Given the description of an element on the screen output the (x, y) to click on. 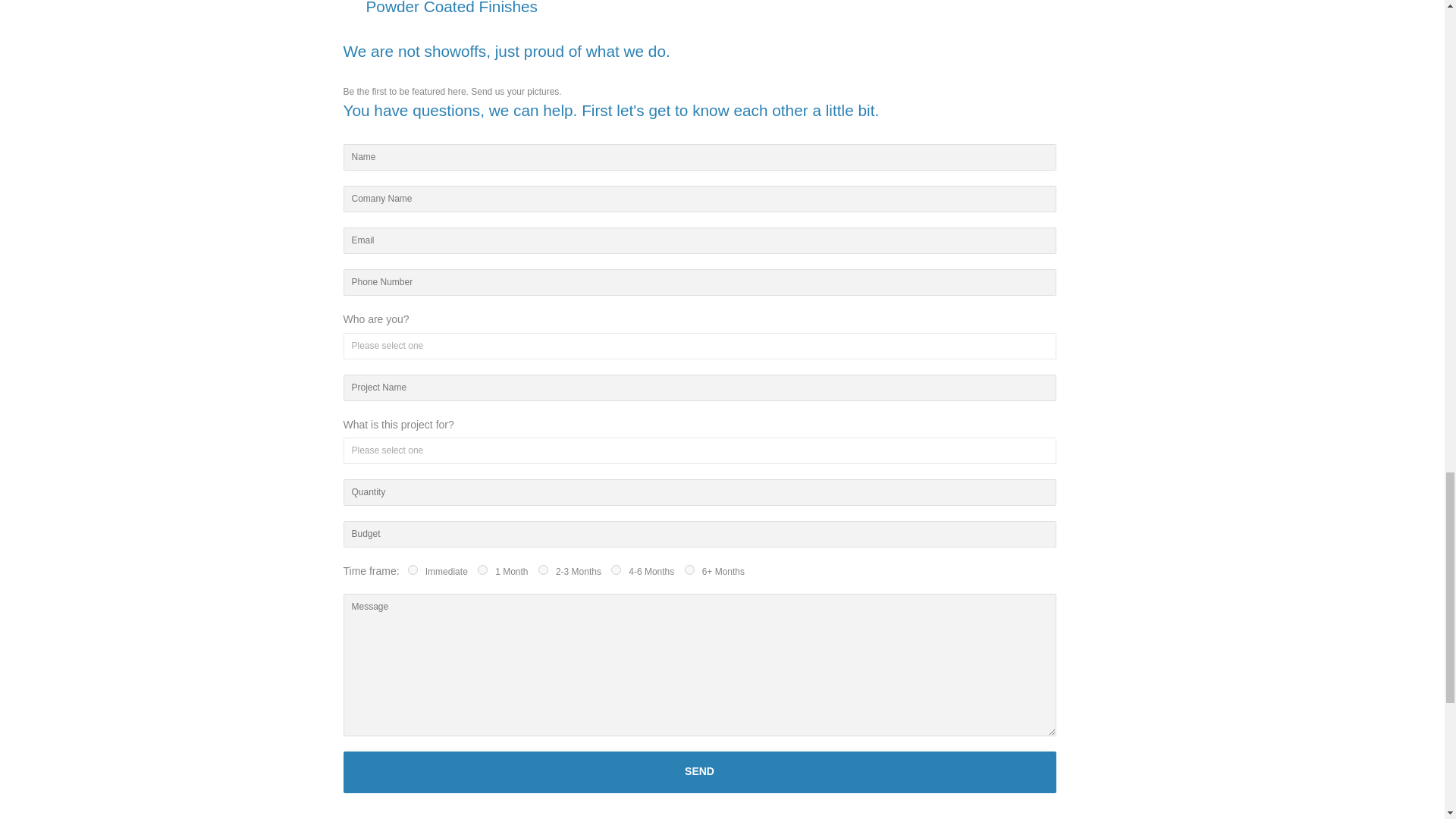
4-6 Months (616, 569)
1 Month (482, 569)
Immediate (412, 569)
Send (698, 772)
2-3 Months (543, 569)
